Given the description of an element on the screen output the (x, y) to click on. 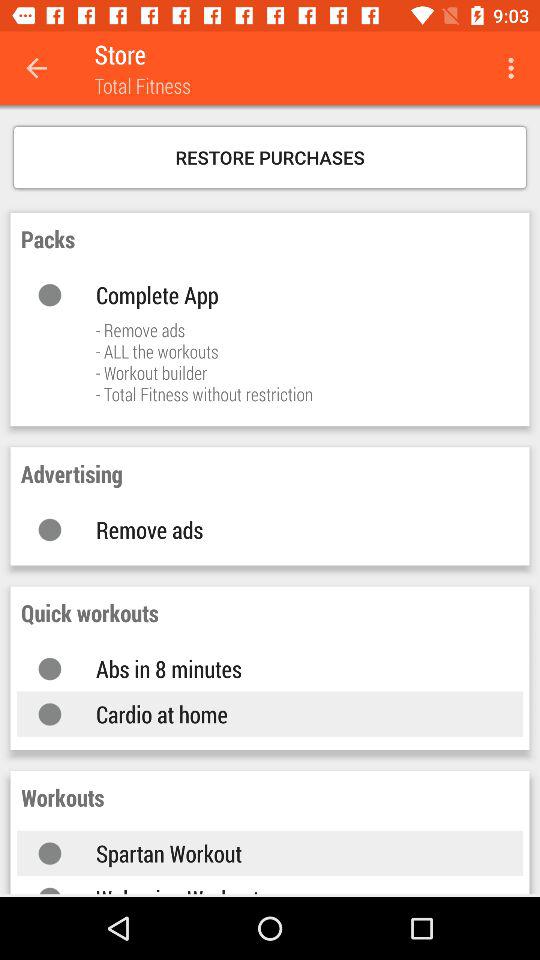
turn off the item above the packs (269, 157)
